Given the description of an element on the screen output the (x, y) to click on. 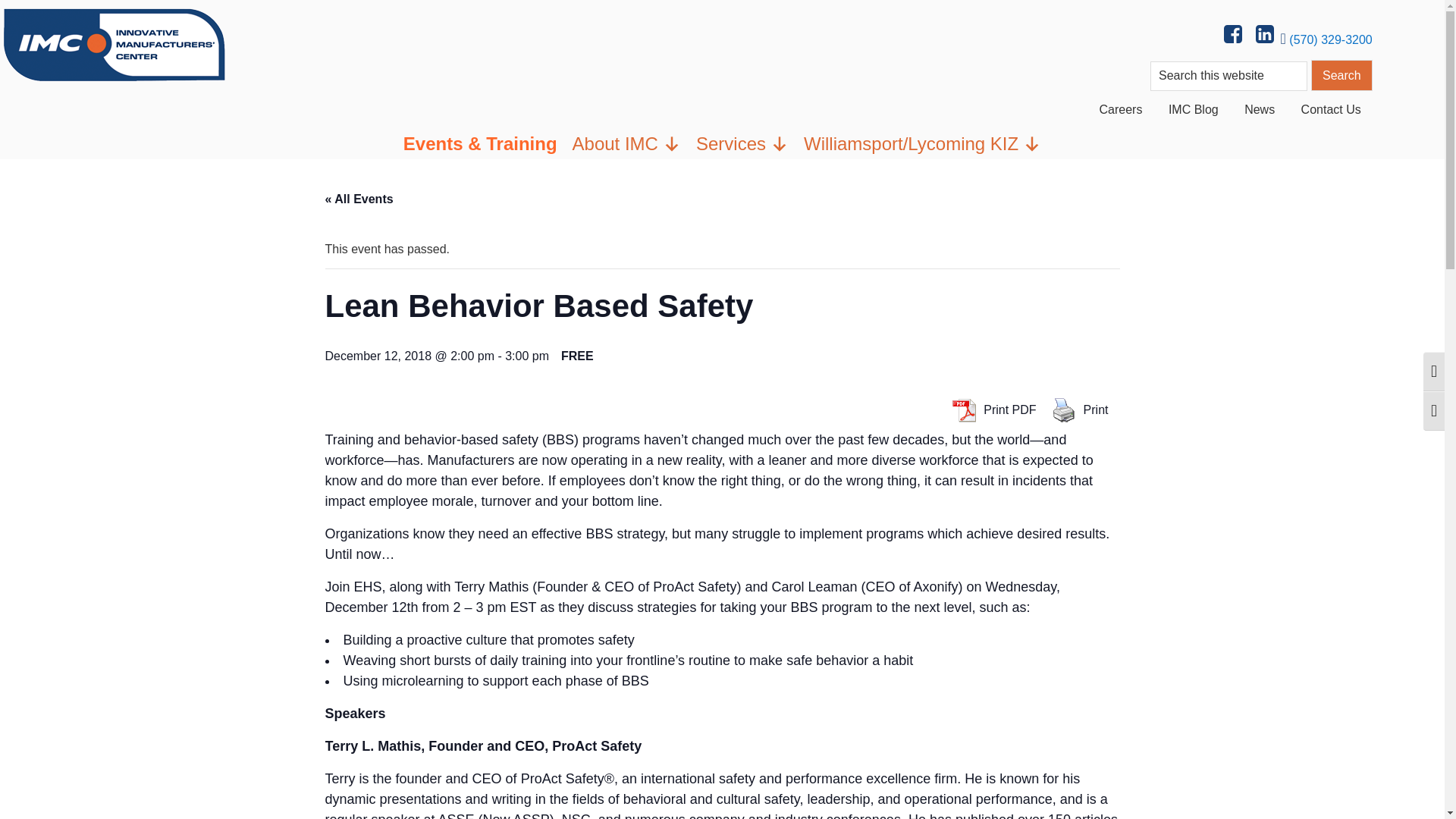
Innovative Manufacturers' Center (113, 42)
Search (1342, 74)
Contact Us (1331, 109)
About IMC (626, 143)
News (1259, 109)
IMC Blog (1193, 109)
Services (742, 143)
Search (1342, 74)
Search (1342, 74)
Careers (1120, 109)
